Given the description of an element on the screen output the (x, y) to click on. 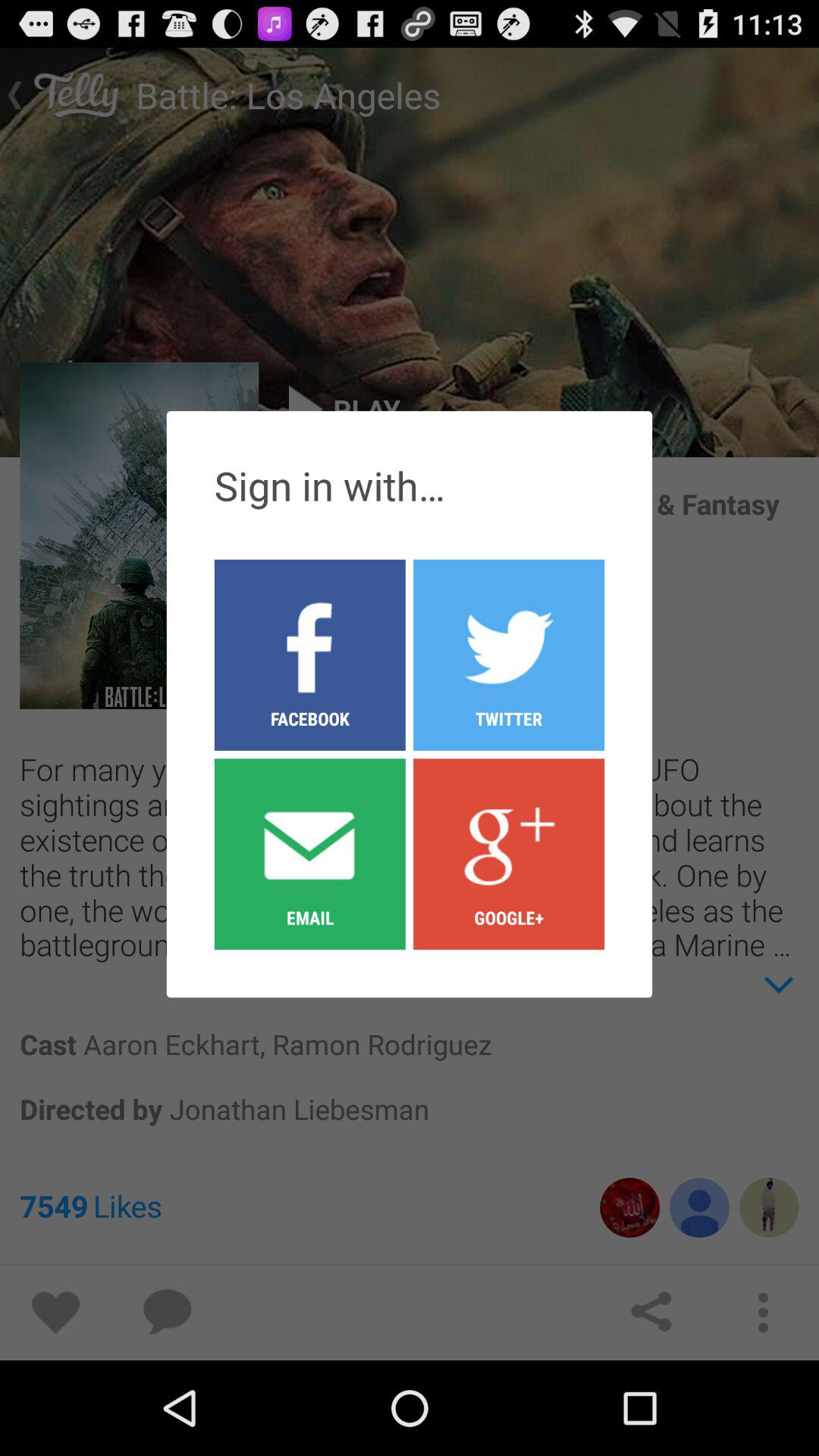
press item to the left of twitter (309, 654)
